Given the description of an element on the screen output the (x, y) to click on. 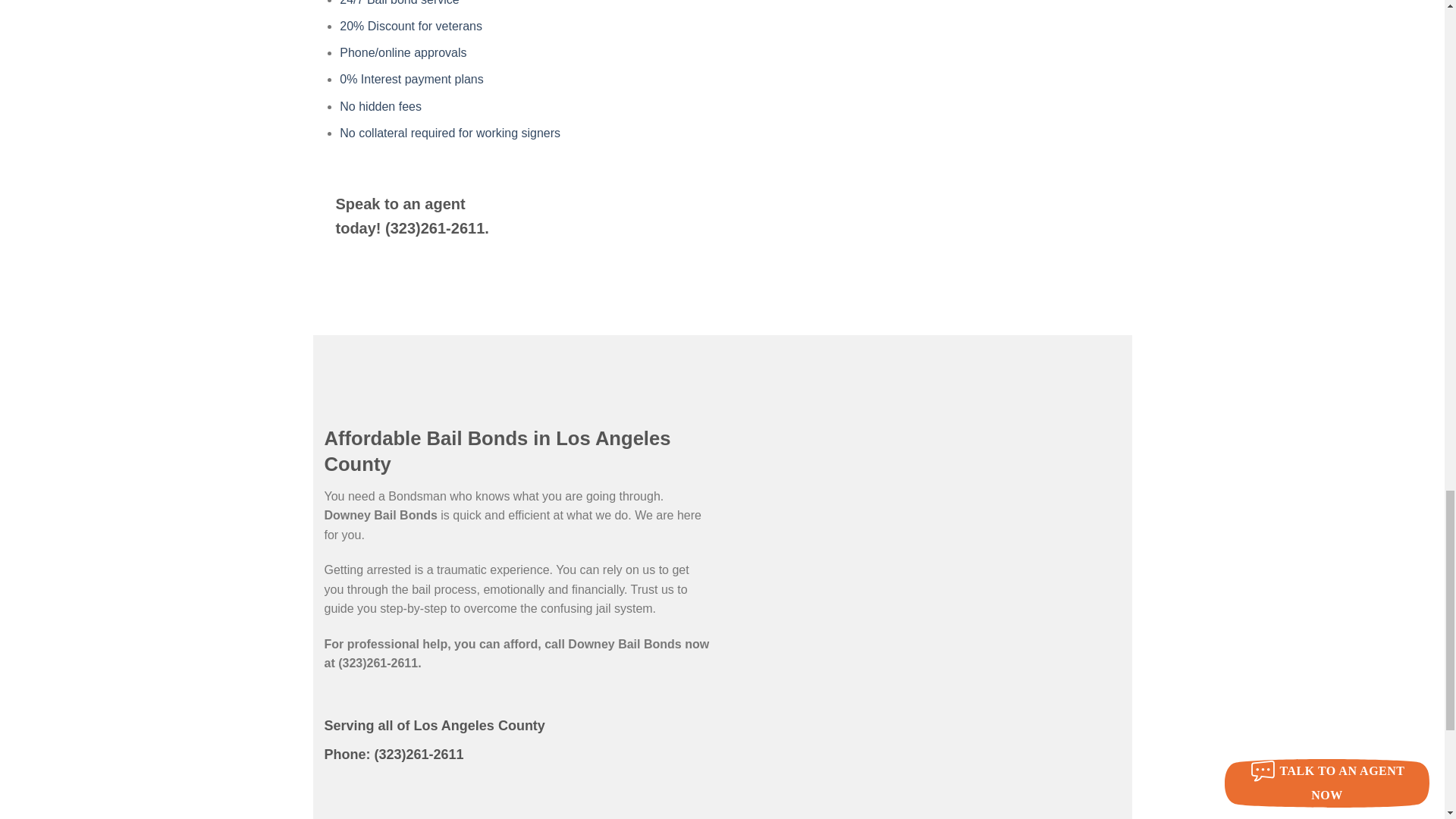
Bail Your Loved One Online (402, 51)
No collateral required for working signers (449, 132)
Are Discounts Available? (410, 25)
What You Need To Know About Bail Bonds (380, 106)
No hidden fees (380, 106)
